Given the description of an element on the screen output the (x, y) to click on. 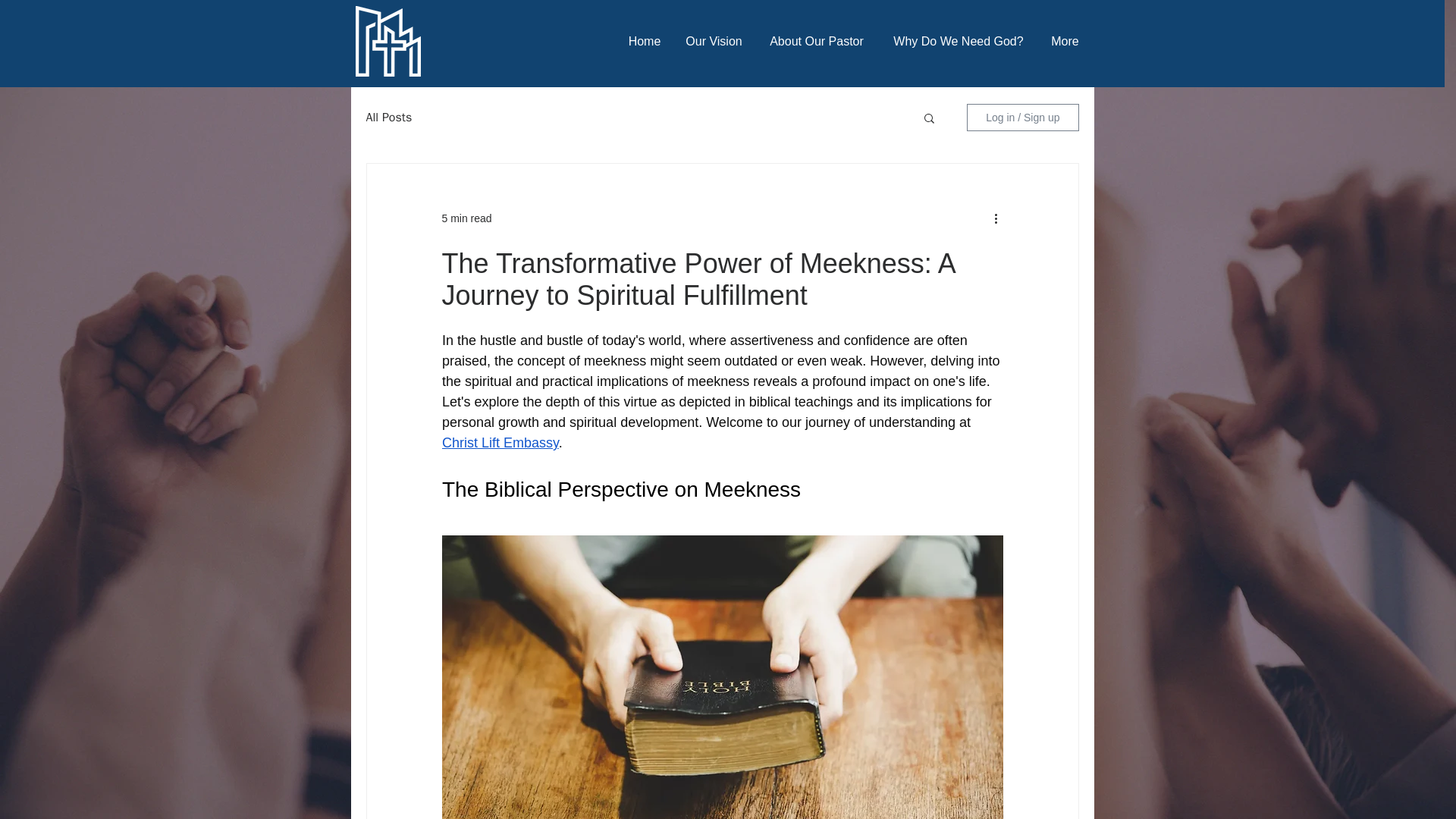
Christ Lift Embassy (499, 442)
5 min read (466, 218)
All Posts (388, 116)
Why Do We Need God? (957, 41)
Home (643, 41)
About Our Pastor (817, 41)
Our Vision (713, 41)
